Given the description of an element on the screen output the (x, y) to click on. 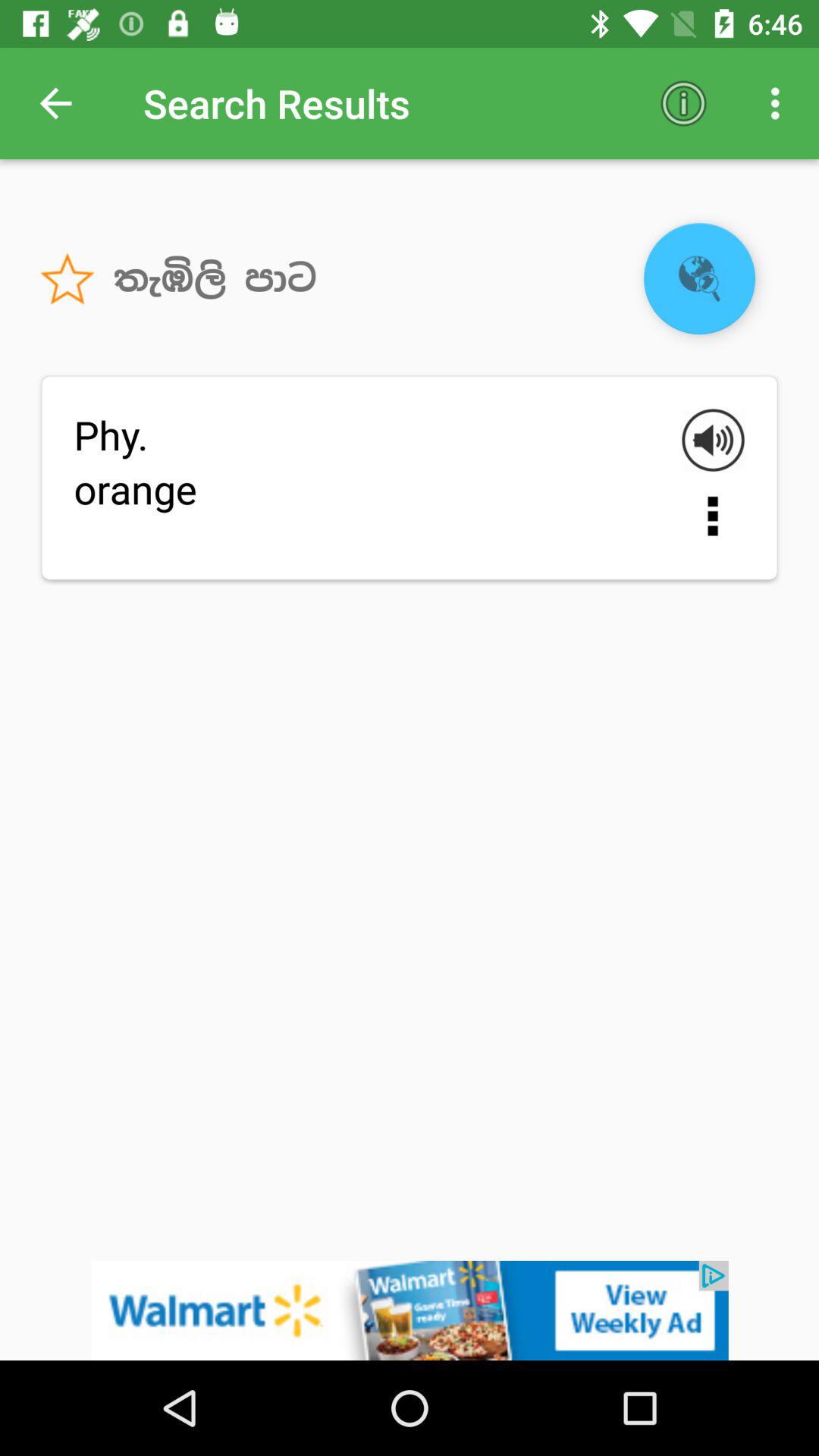
open walmart advertisement (409, 1310)
